Given the description of an element on the screen output the (x, y) to click on. 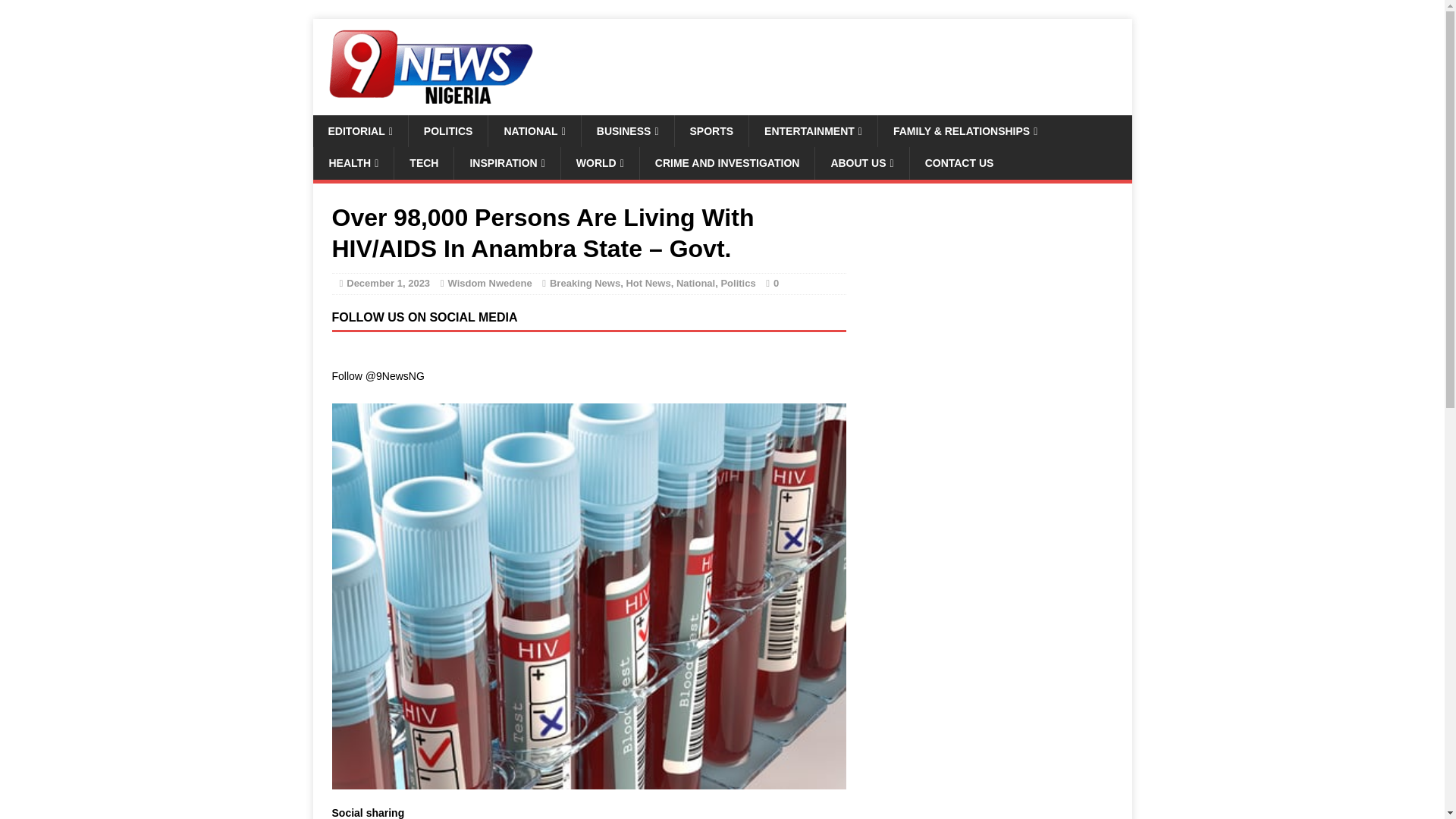
HEALTH (353, 163)
Wisdom Nwedene (488, 283)
CRIME AND INVESTIGATION (727, 163)
Breaking News (585, 283)
CONTACT US (958, 163)
EDITORIAL (360, 131)
NATIONAL (533, 131)
SPORTS (711, 131)
WORLD (599, 163)
ABOUT US (860, 163)
